Given the description of an element on the screen output the (x, y) to click on. 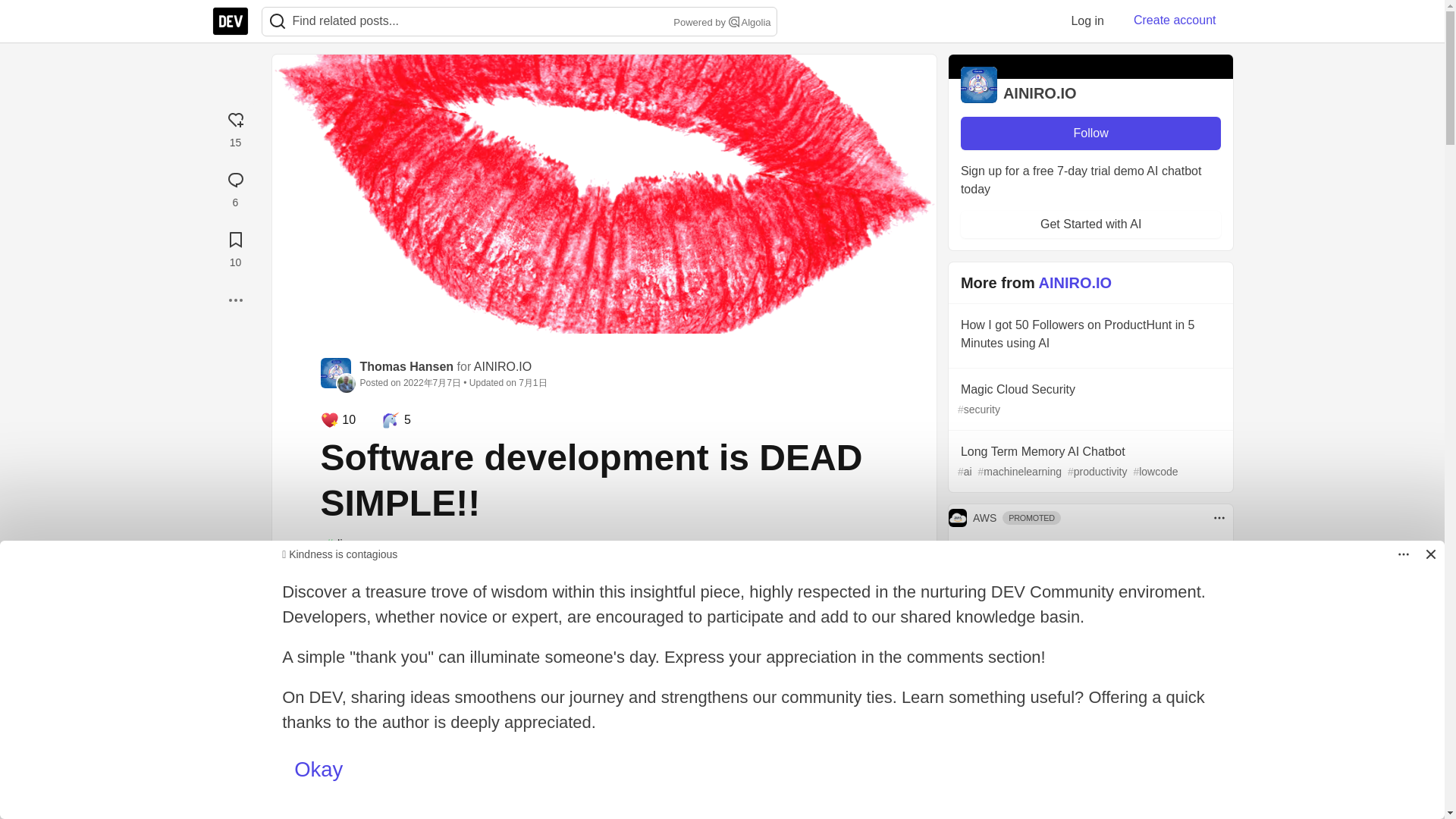
AINIRO.IO (502, 366)
Powered by Algolia (720, 22)
10 (604, 748)
Create account (235, 247)
Log in (1174, 20)
6 (1087, 20)
More... (235, 187)
Published Jul 3 '22 (234, 299)
View more (604, 705)
